Given the description of an element on the screen output the (x, y) to click on. 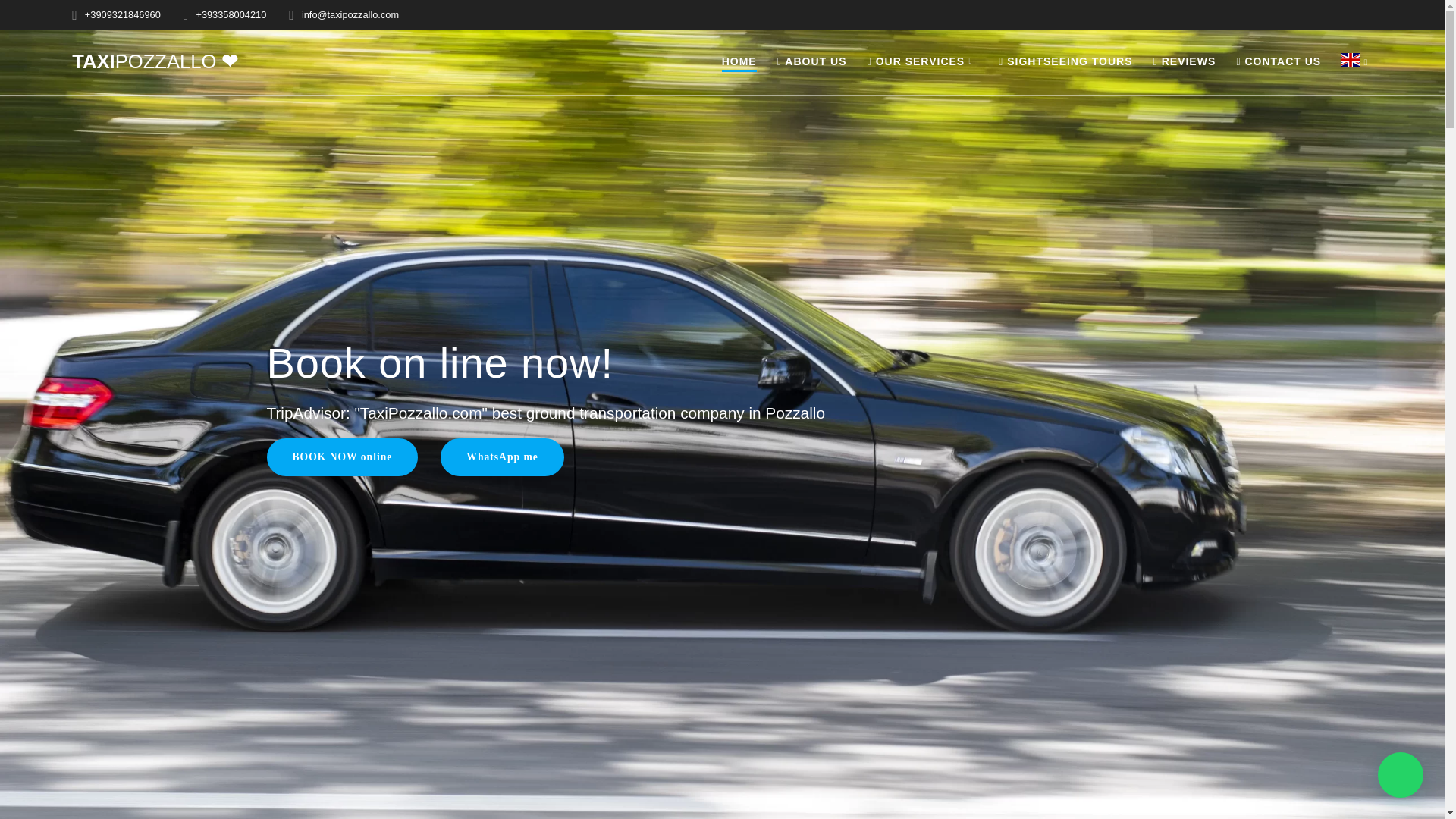
BOOK NOW online (342, 456)
WhatsApp me (502, 456)
HOME (739, 62)
English (1356, 62)
